Given the description of an element on the screen output the (x, y) to click on. 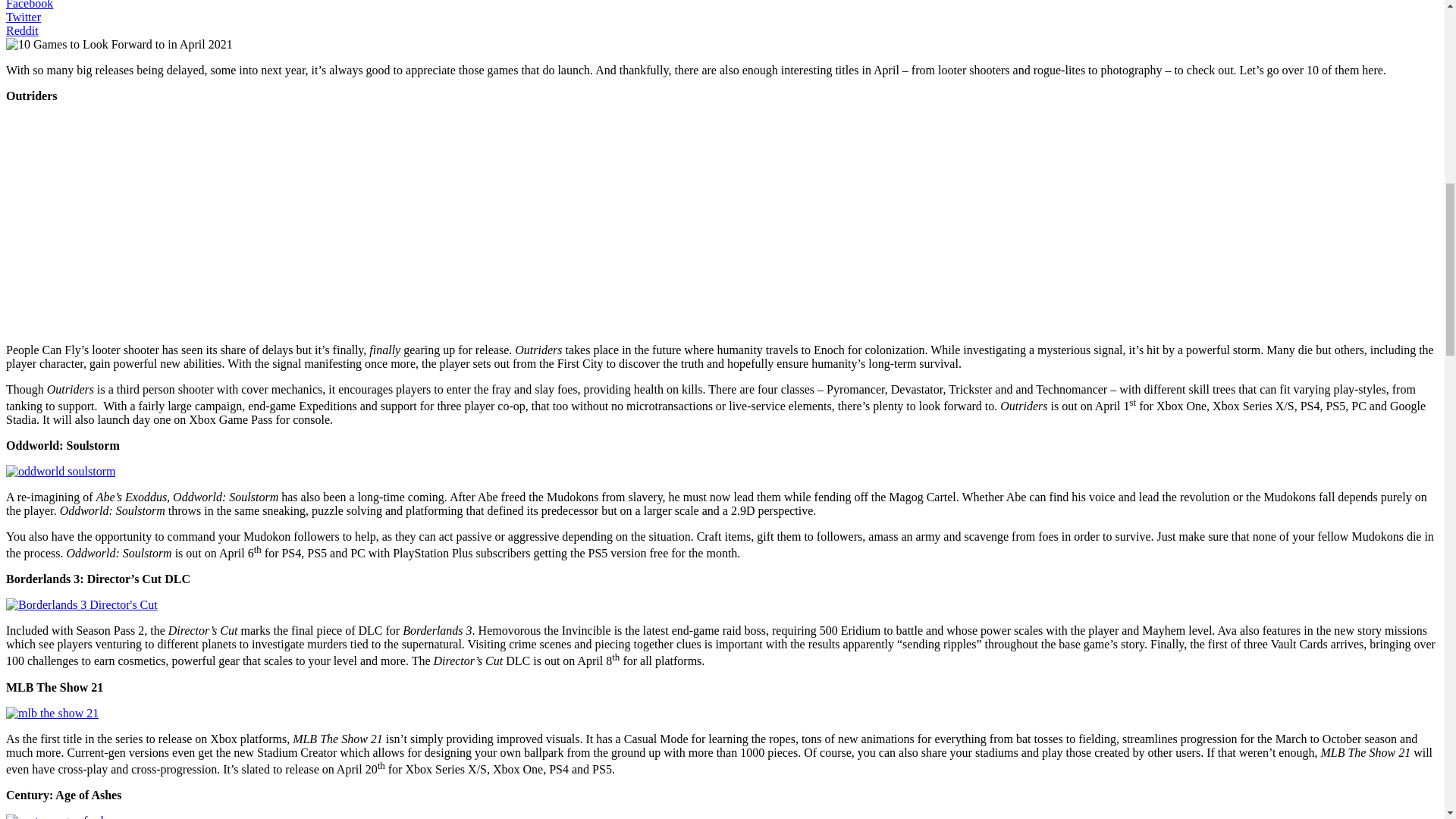
Facebook (28, 4)
Reddit (22, 30)
Twitter (22, 16)
